Given the description of an element on the screen output the (x, y) to click on. 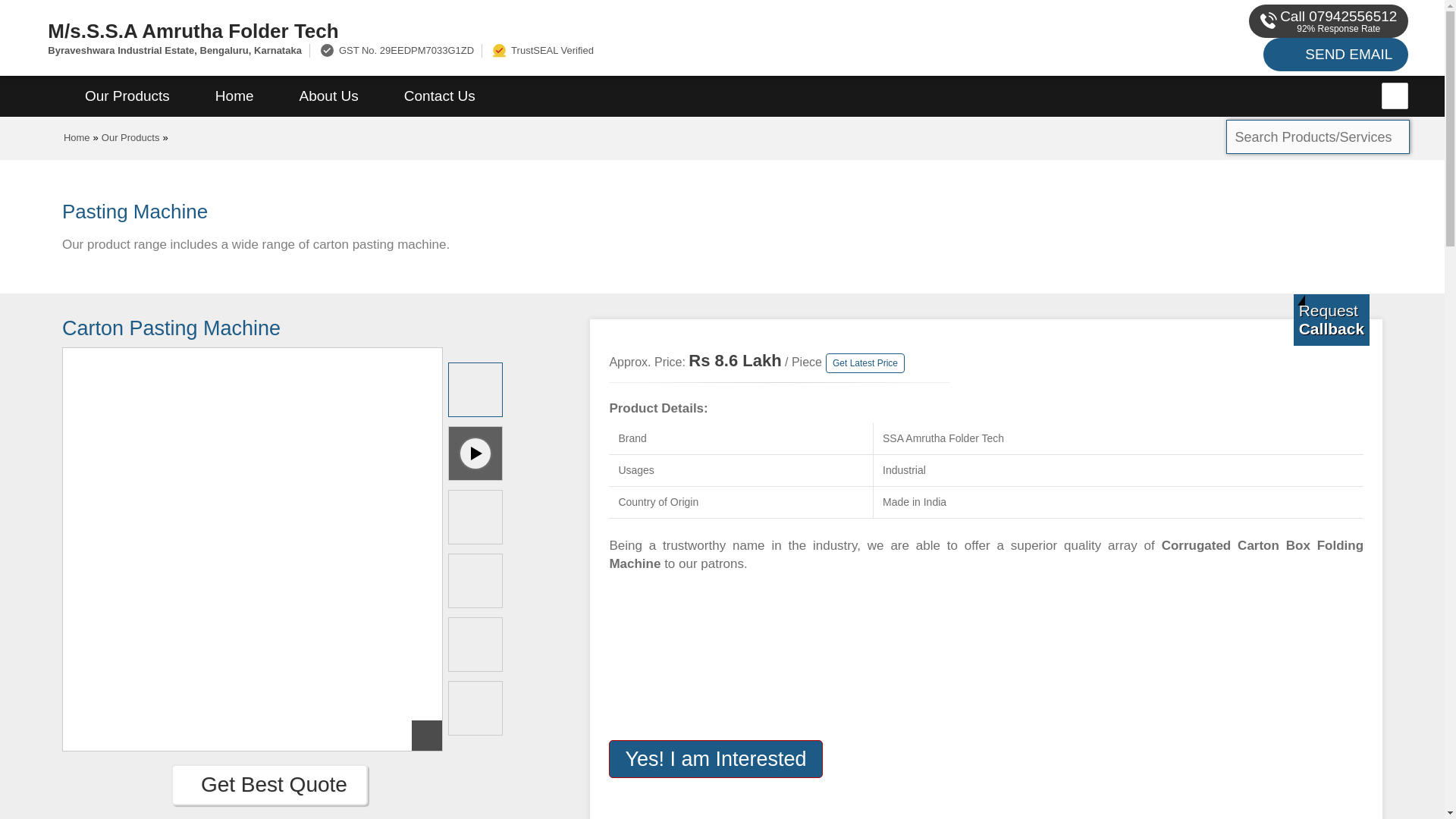
Home (234, 96)
Home (77, 137)
Our Products (127, 96)
Contact Us (439, 96)
Get a Call from us (1332, 319)
Our Products (130, 137)
About Us (328, 96)
